Given the description of an element on the screen output the (x, y) to click on. 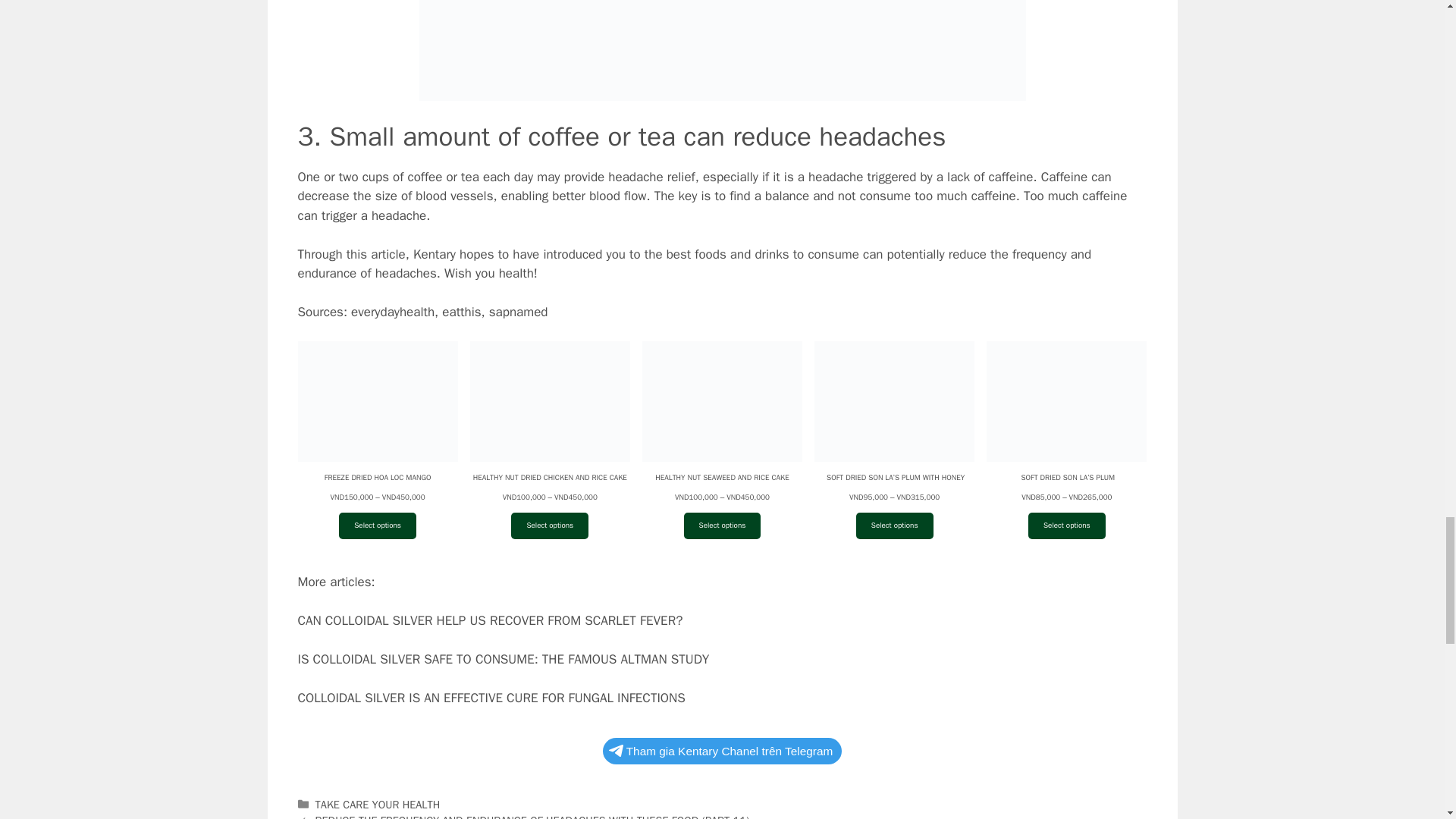
Select options (377, 525)
HEALTHY NUT DRIED CHICKEN AND RICE CAKE (550, 416)
banh-dinh-duong-gao-lut-va-hat2 (722, 50)
FREEZE DRIED HOA LOC MANGO (377, 416)
Select options (549, 525)
HEALTHY NUT SEAWEED AND RICE CAKE (722, 416)
